Given the description of an element on the screen output the (x, y) to click on. 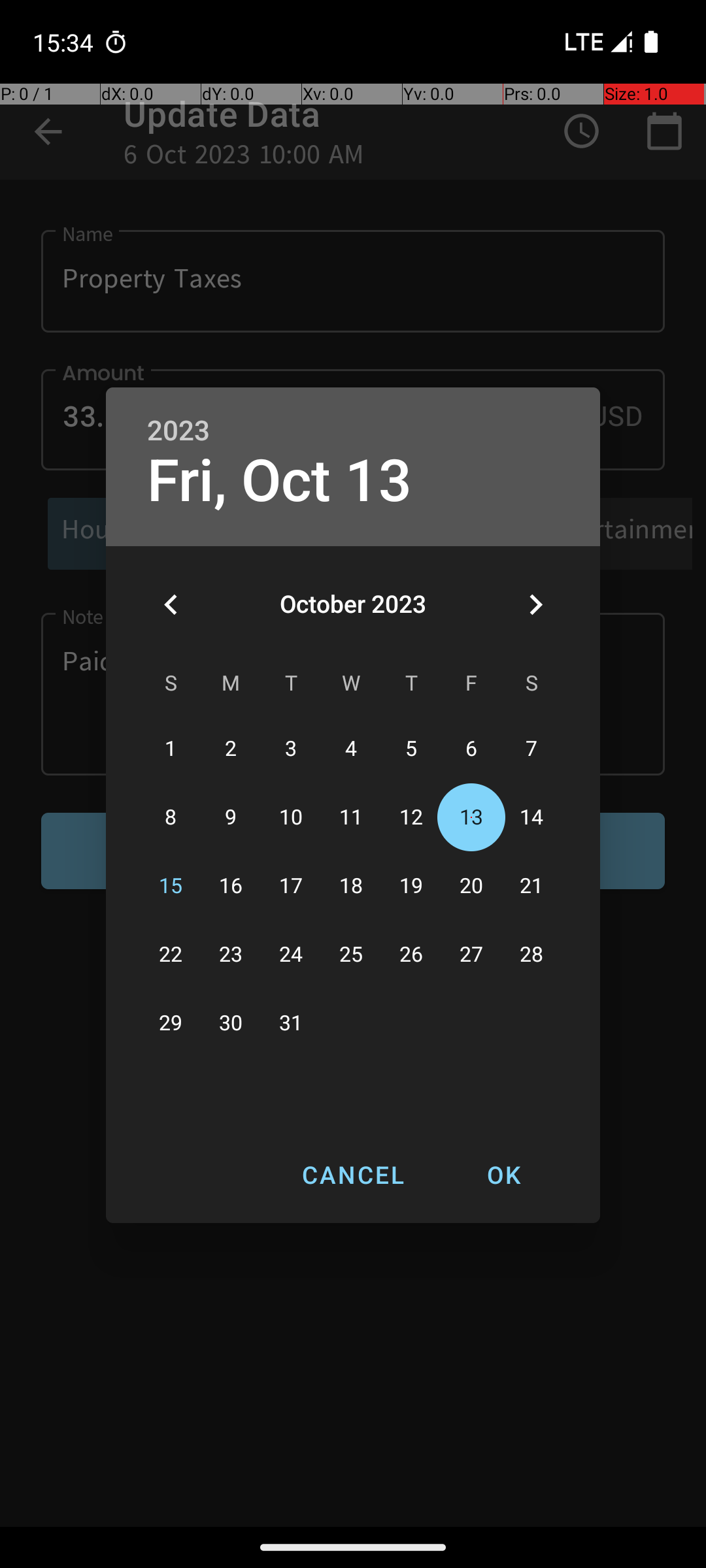
Fri, Oct 13 Element type: android.widget.TextView (279, 480)
